Given the description of an element on the screen output the (x, y) to click on. 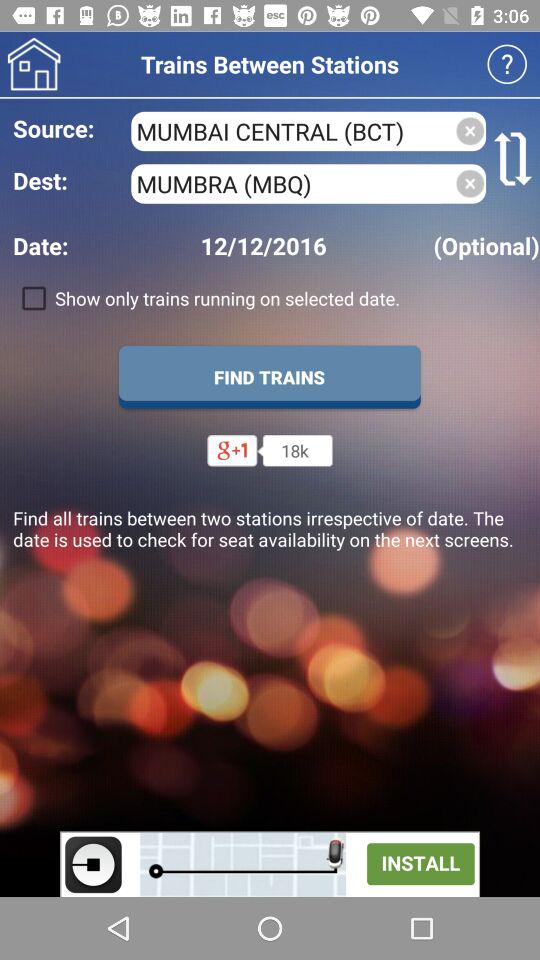
delete text (470, 131)
